Given the description of an element on the screen output the (x, y) to click on. 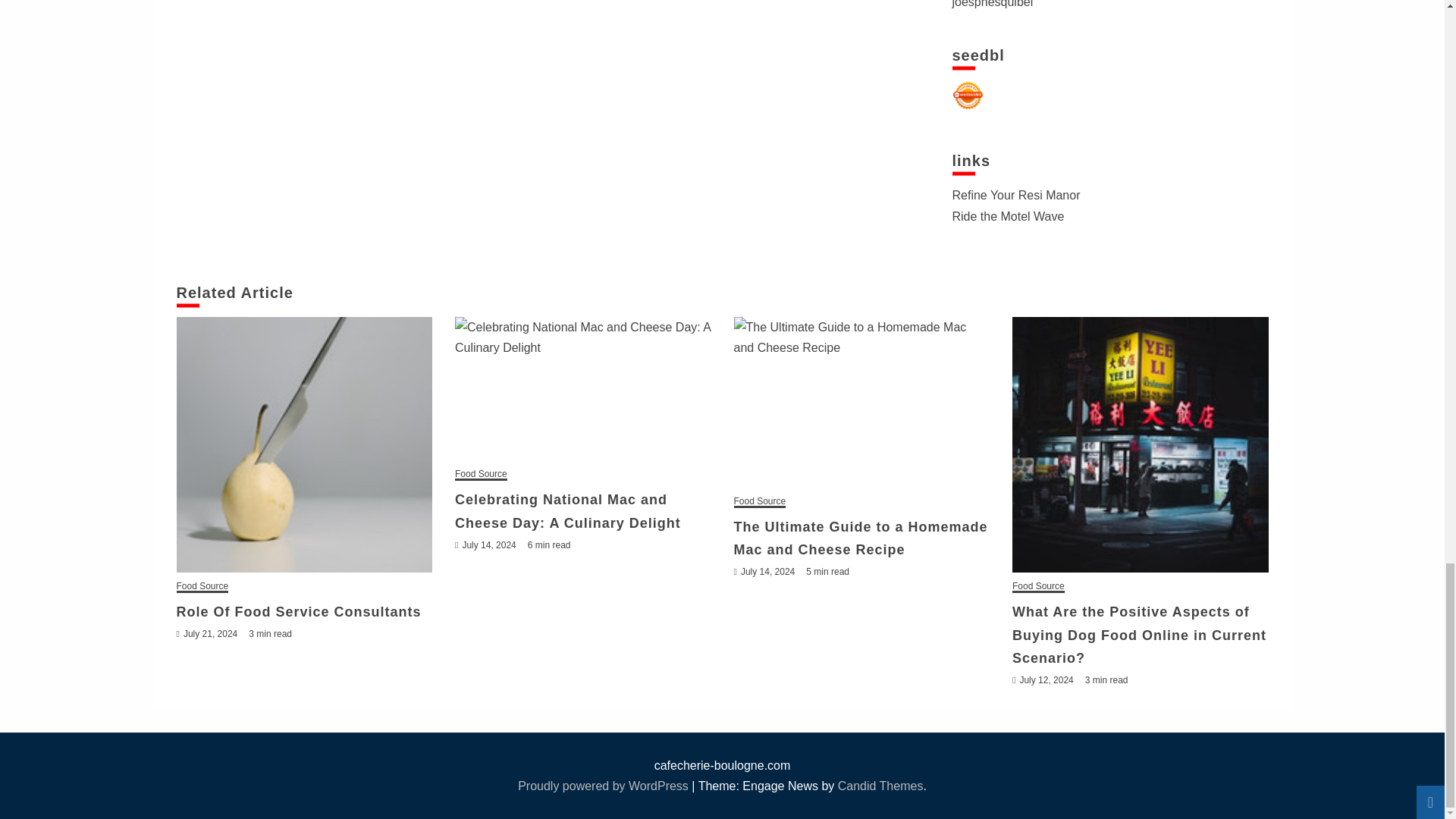
The Ultimate Guide to a Homemade Mac and Cheese Recipe (861, 401)
Celebrating National Mac and Cheese Day: A Culinary Delight (582, 388)
Seedbacklink (968, 95)
Role Of Food Service Consultants (304, 444)
